Given the description of an element on the screen output the (x, y) to click on. 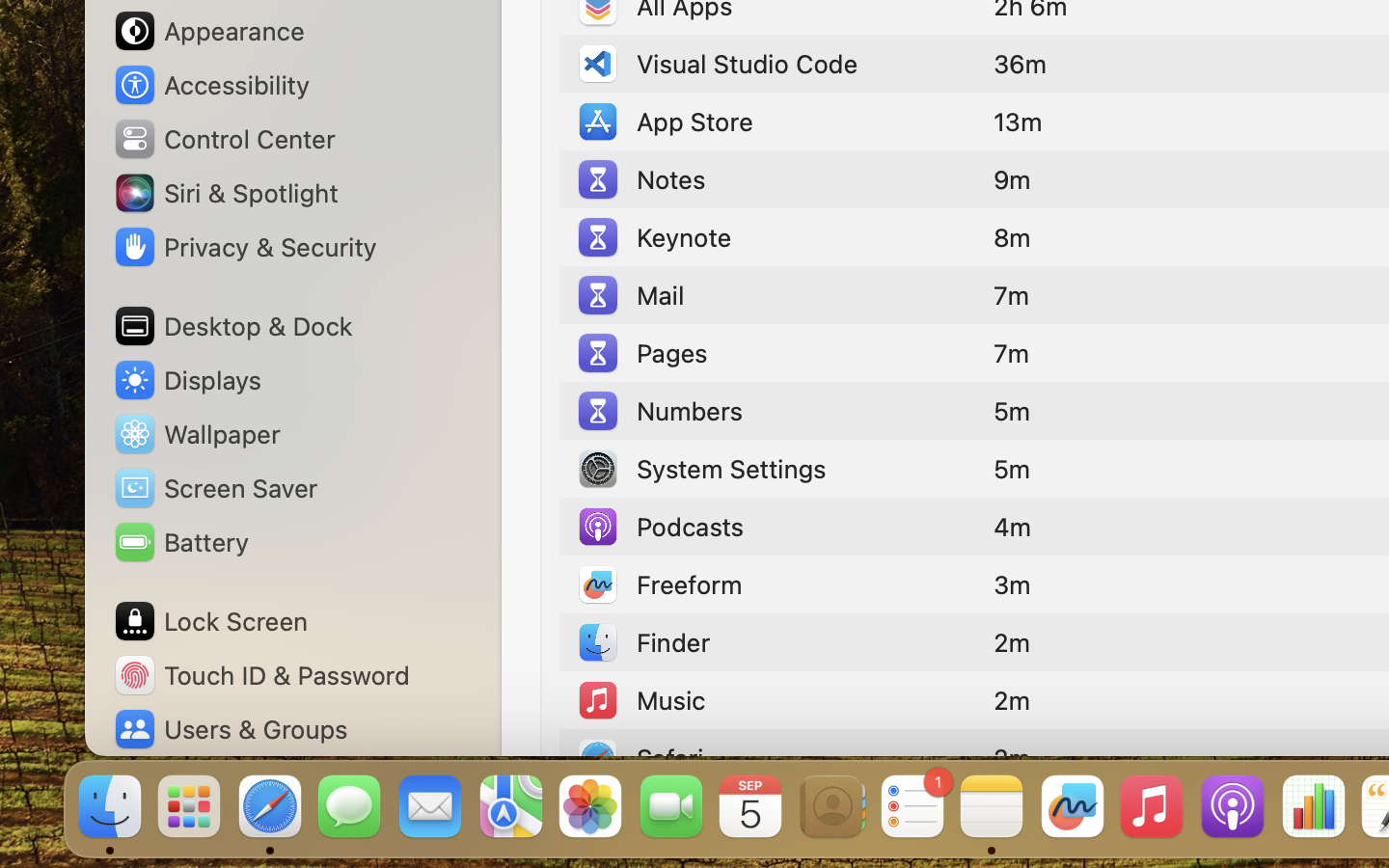
Pages Element type: AXStaticText (641, 352)
Mail Element type: AXStaticText (629, 294)
Numbers Element type: AXStaticText (658, 410)
Music Element type: AXStaticText (640, 700)
Desktop & Dock Element type: AXStaticText (232, 325)
